Given the description of an element on the screen output the (x, y) to click on. 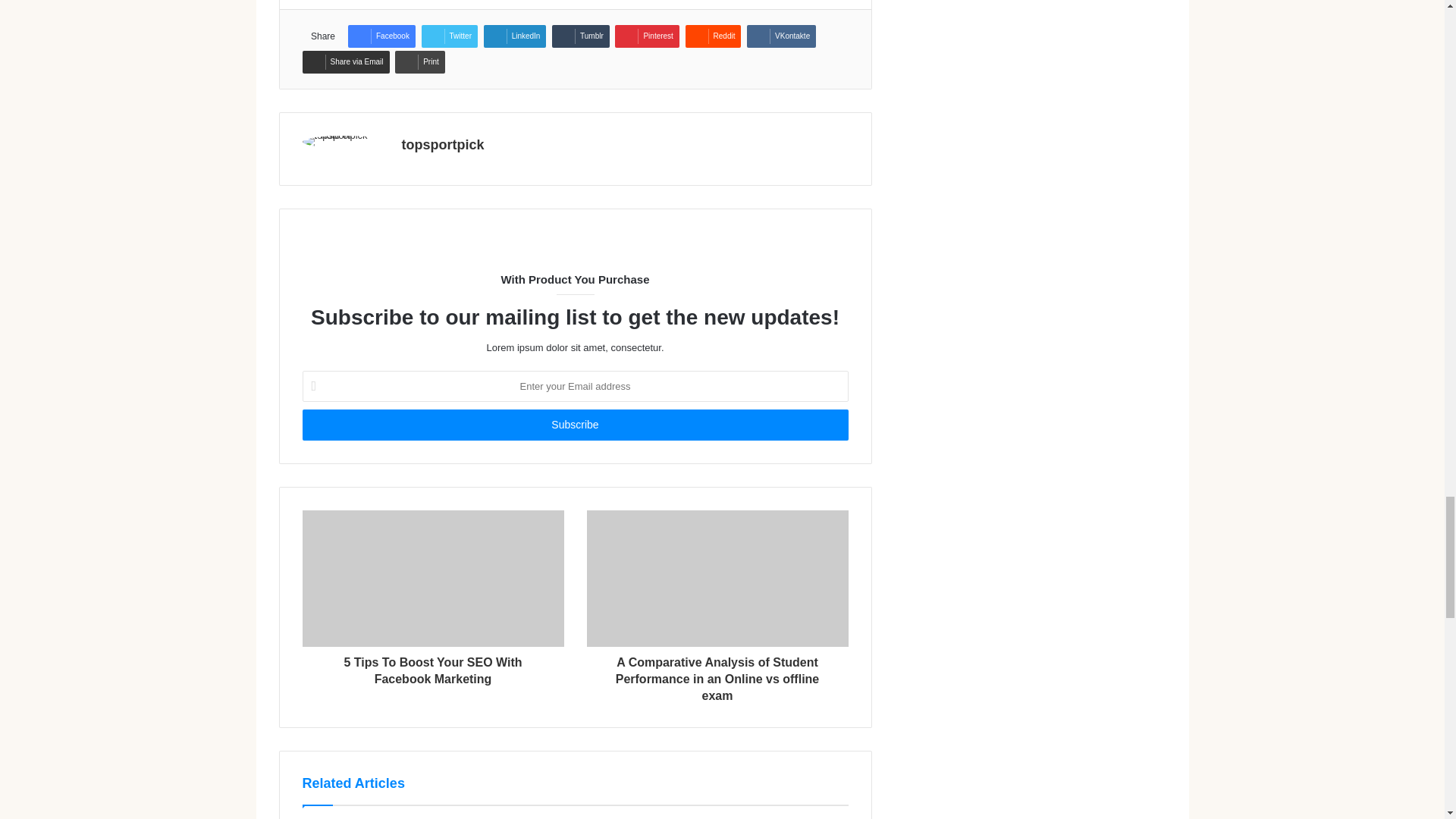
LinkedIn (515, 36)
Pinterest (646, 36)
Subscribe (574, 424)
Twitter (449, 36)
Share via Email (344, 61)
Print (419, 61)
Facebook (380, 36)
Reddit (713, 36)
LinkedIn (515, 36)
Tumblr (580, 36)
Twitter (449, 36)
VKontakte (780, 36)
Facebook (380, 36)
